Given the description of an element on the screen output the (x, y) to click on. 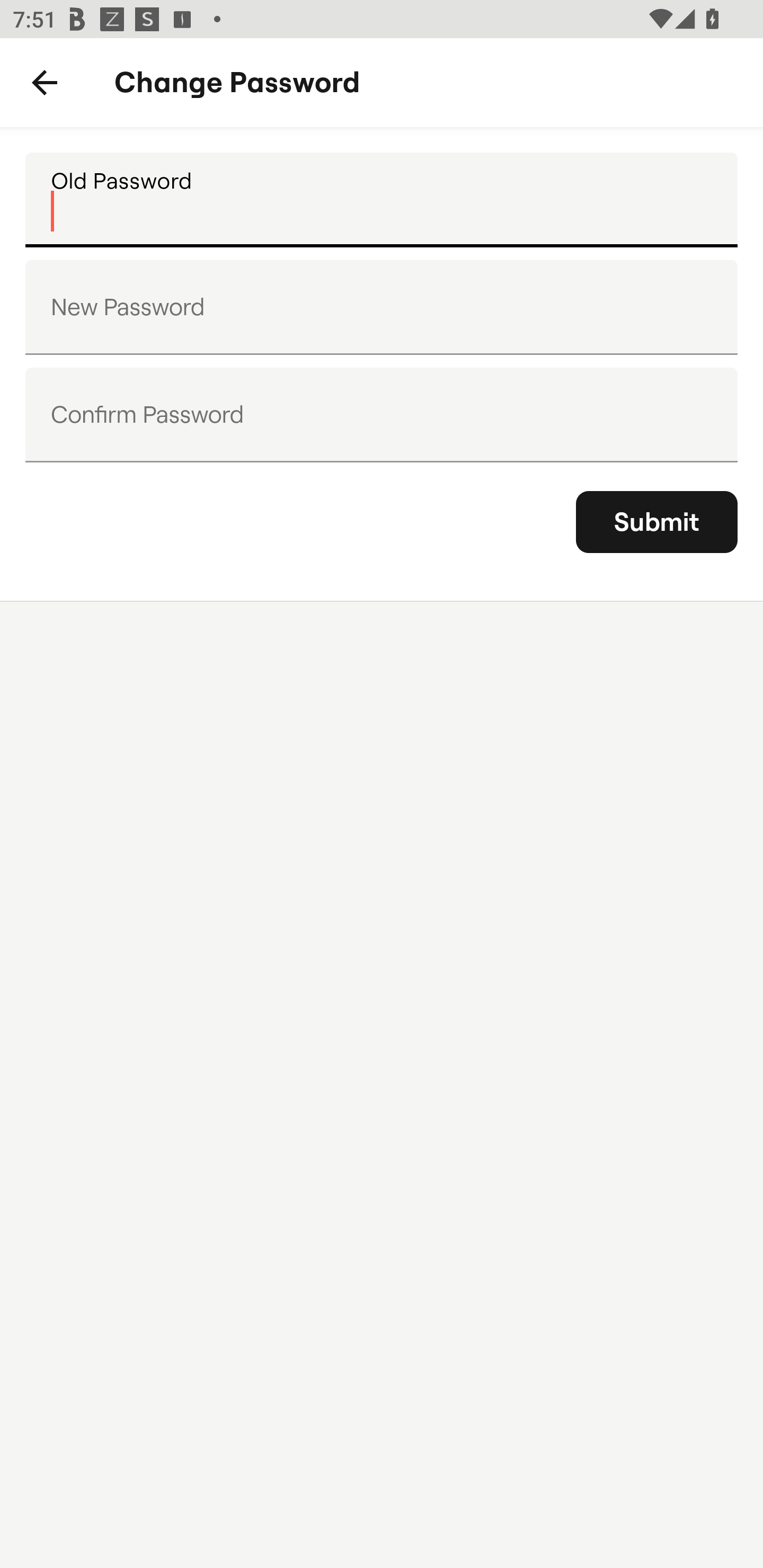
Back (44, 82)
Old Password (381, 199)
New Password (381, 307)
Confirm Password (381, 414)
Submit (656, 521)
